Given the description of an element on the screen output the (x, y) to click on. 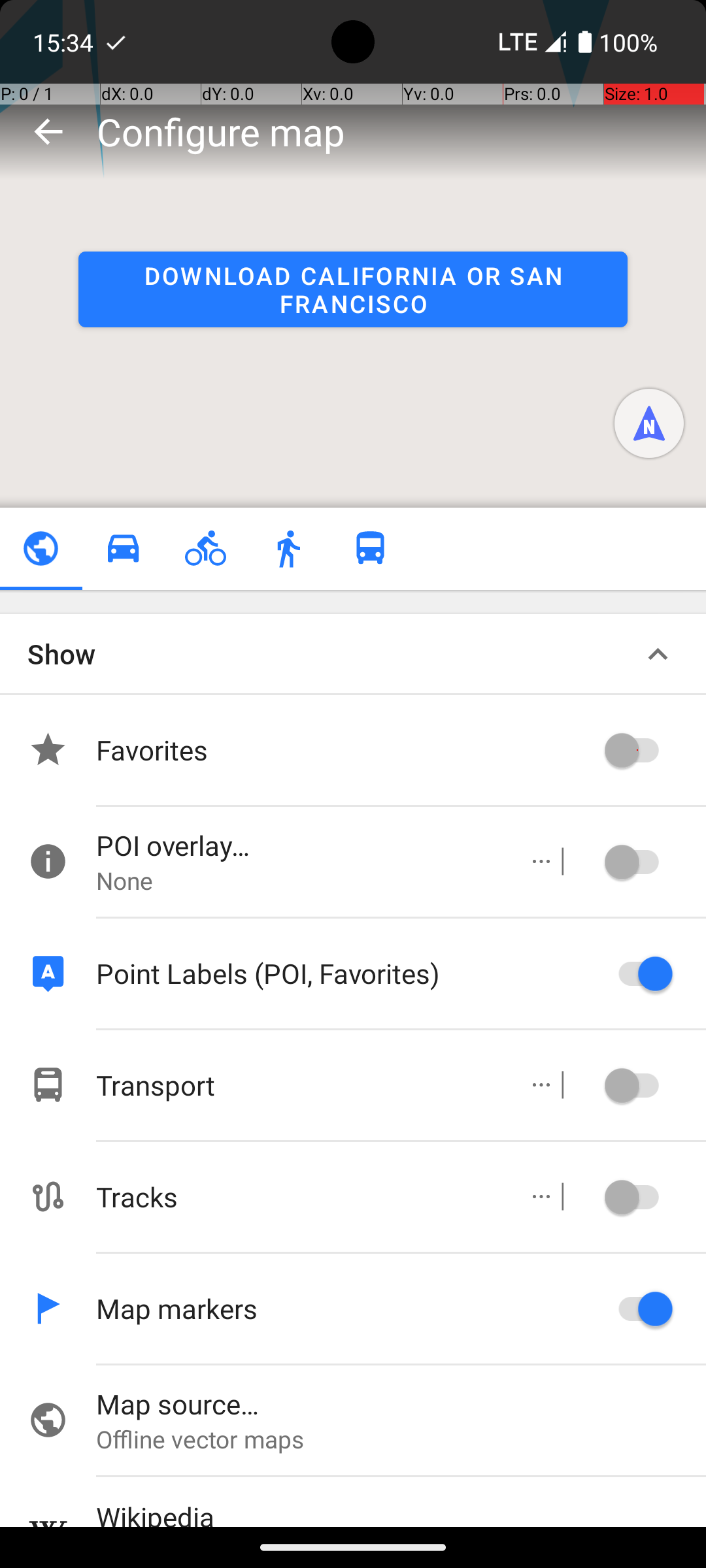
Back to map Element type: android.widget.ImageButton (48, 131)
Movement direction Element type: android.widget.ImageButton (649, 423)
DOWNLOAD CALIFORNIA OR SAN FRANCISCO Element type: android.widget.Button (352, 289)
Browse map checked Element type: android.widget.ImageView (40, 548)
Show Element type: android.widget.TextView (61, 653)
POI overlay… Element type: android.widget.TextView (298, 844)
Point Labels (POI, Favorites) Element type: android.widget.TextView (346, 972)
Transport Element type: android.widget.TextView (298, 1084)
Map source… Element type: android.widget.TextView (401, 1403)
Offline vector maps Element type: android.widget.TextView (401, 1438)
